Given the description of an element on the screen output the (x, y) to click on. 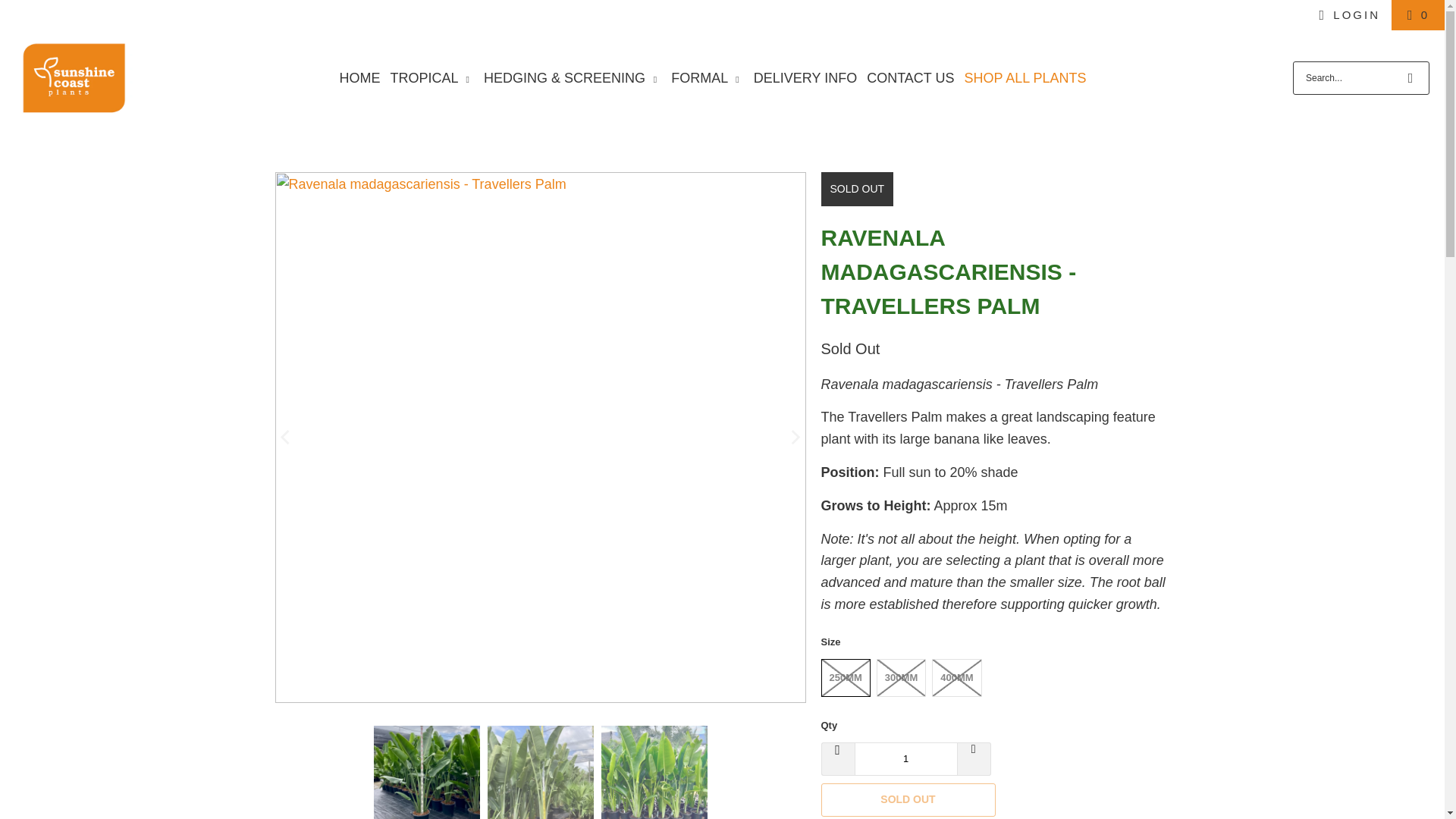
My Account  (1347, 15)
Sunshine Coast Plants (73, 77)
1 (904, 758)
